Given the description of an element on the screen output the (x, y) to click on. 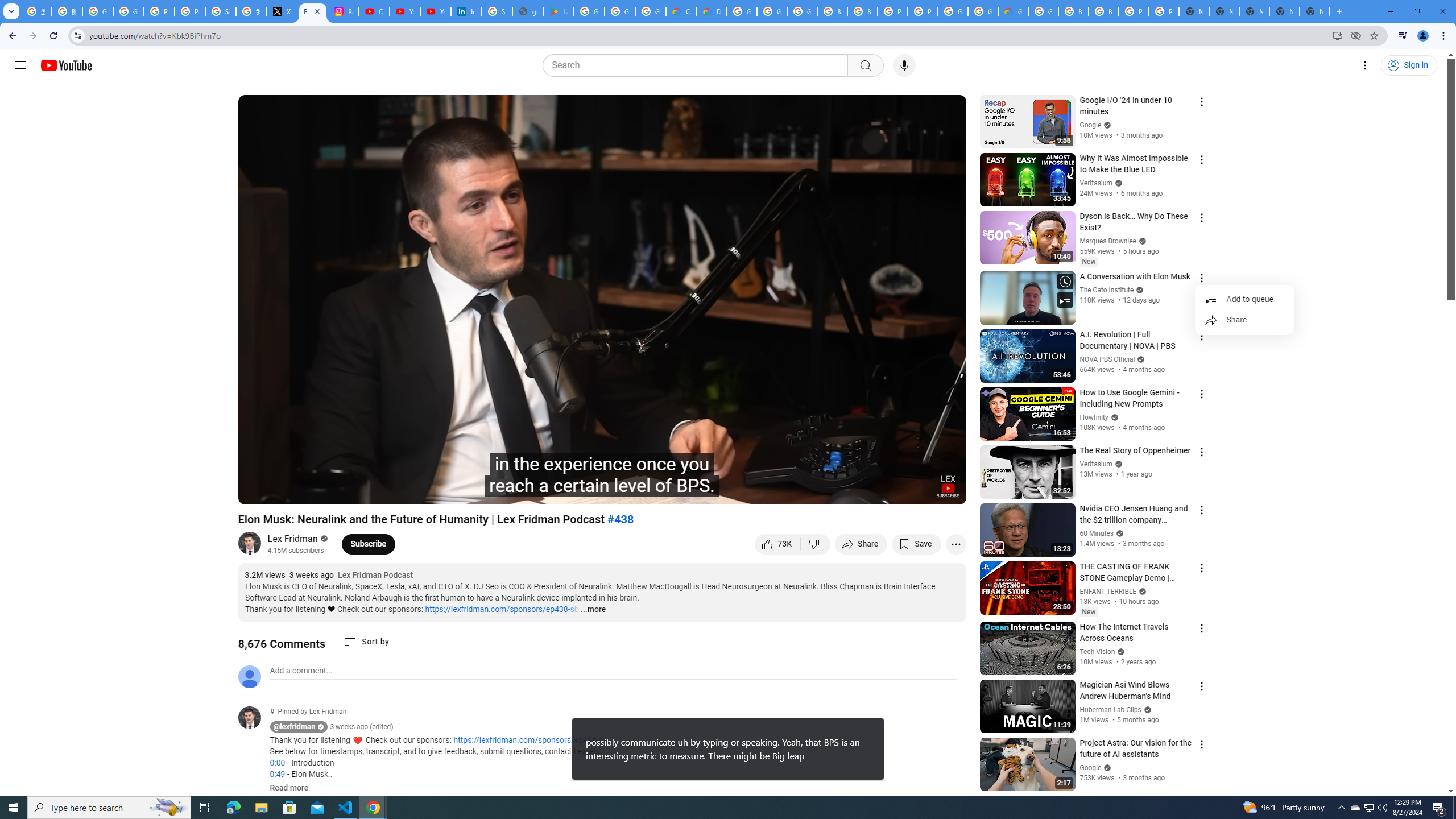
Telepathy (402, 490)
Next (SHIFT+n) (284, 490)
Sign in - Google Accounts (220, 11)
Share (861, 543)
Add to queue (1243, 299)
Guide (20, 65)
Last Shelter: Survival - Apps on Google Play (558, 11)
https://lexfridman.com/sponsors/ep438-sa (529, 740)
